Given the description of an element on the screen output the (x, y) to click on. 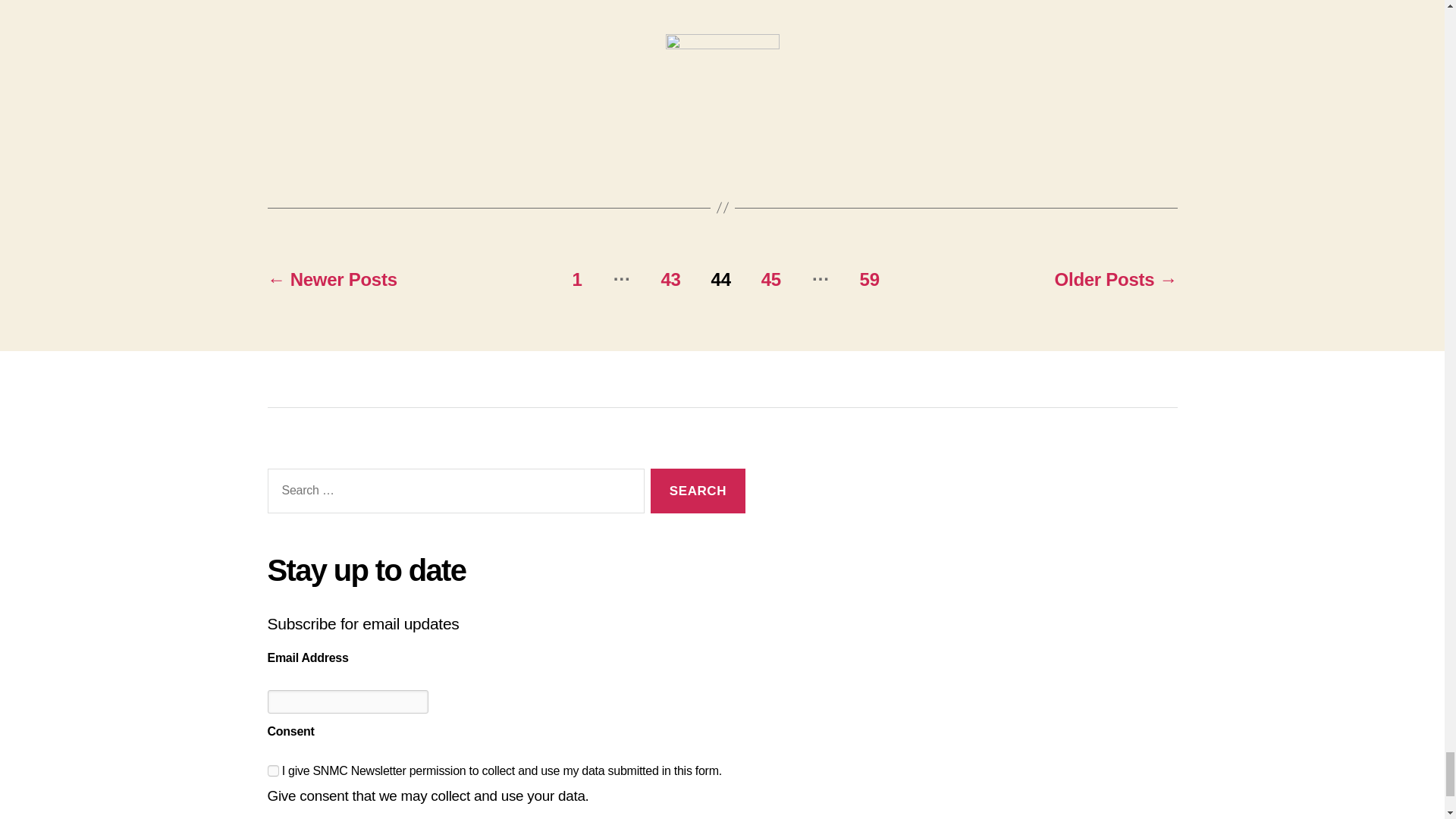
Search (697, 490)
Search (697, 490)
1 (272, 770)
